Given the description of an element on the screen output the (x, y) to click on. 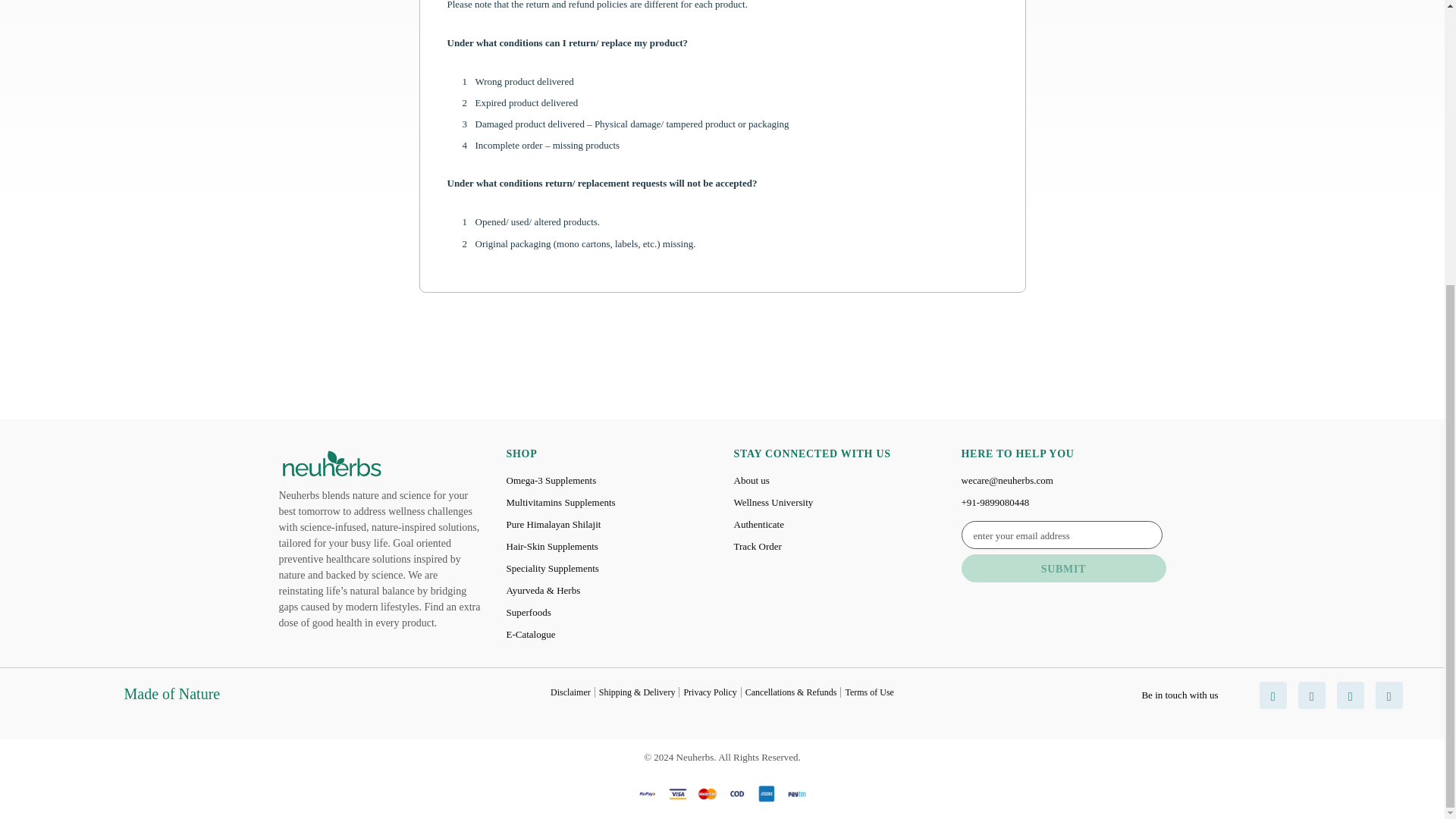
Multivitamins Supplements (560, 502)
Omega-3 Supplements (551, 480)
Hair-Skin Supplements (552, 546)
Submit (1063, 568)
Pure Himalayan Shilajit (553, 524)
